Given the description of an element on the screen output the (x, y) to click on. 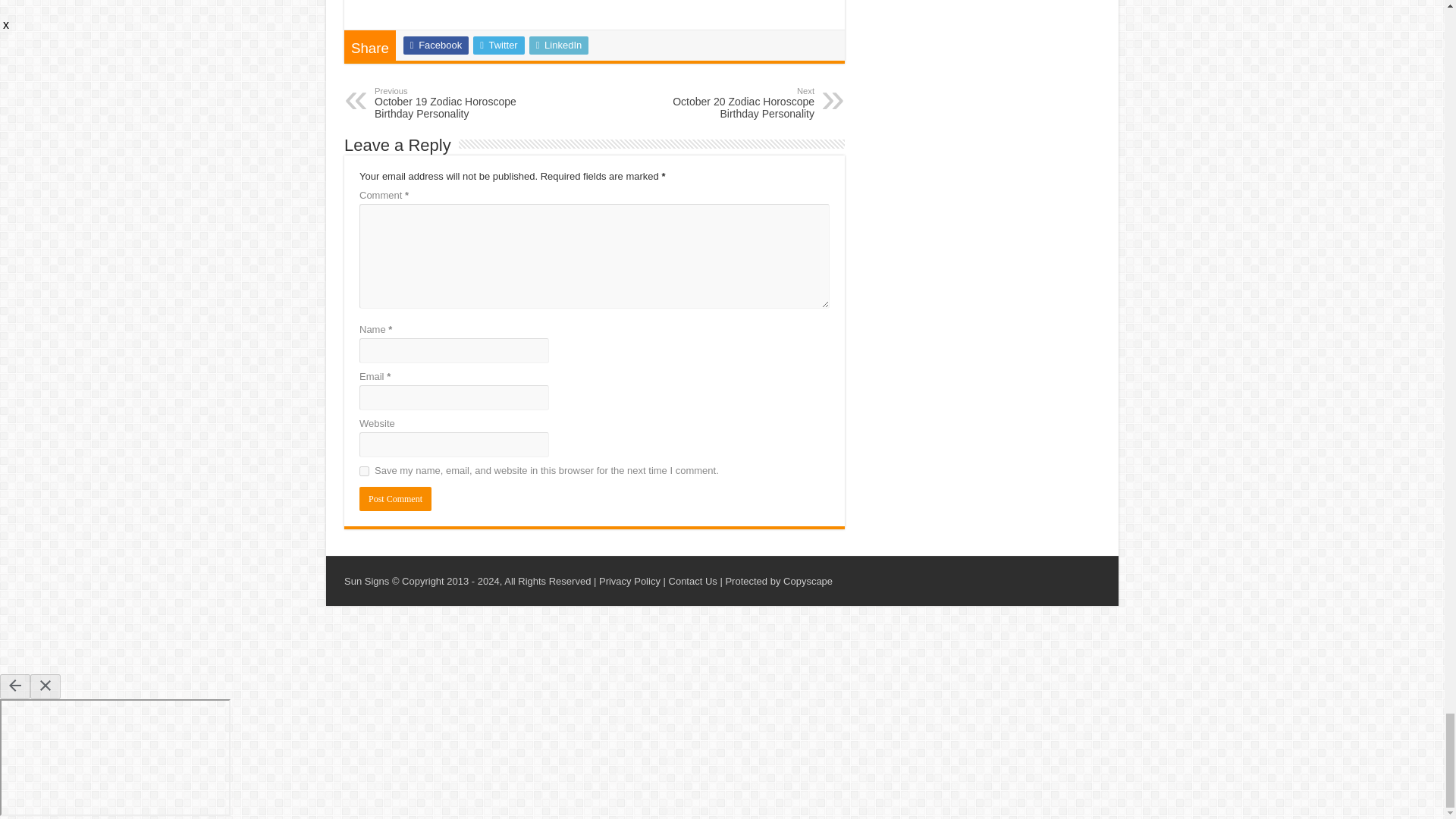
Post Comment (394, 498)
yes (364, 470)
